Given the description of an element on the screen output the (x, y) to click on. 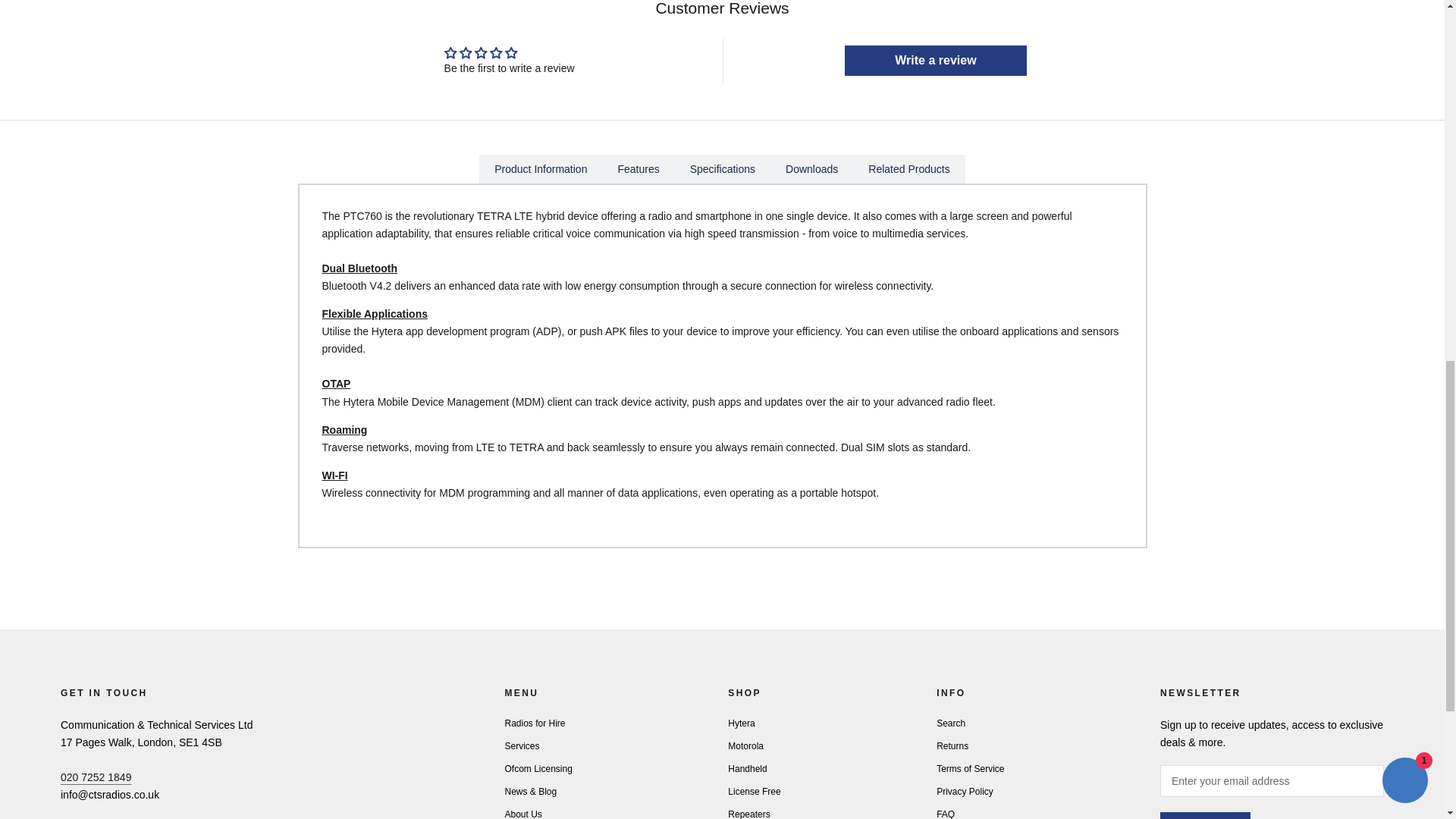
Call CTS Radios London (96, 776)
